Given the description of an element on the screen output the (x, y) to click on. 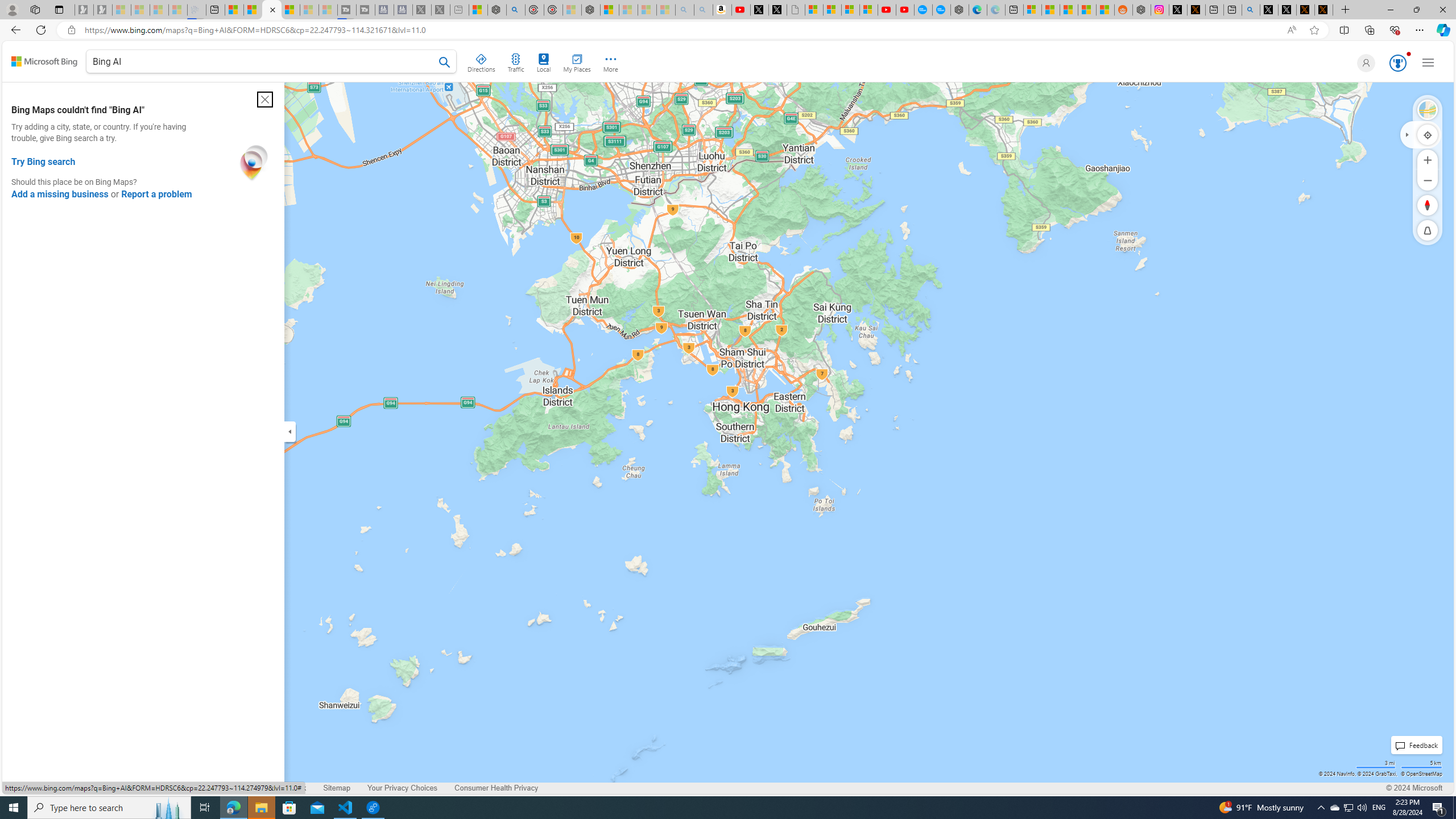
Class: sbElement (43, 60)
Streetside (1427, 109)
X Privacy Policy (1324, 9)
Report a problem (156, 194)
More (610, 60)
Help (249, 787)
Profile / X (1268, 9)
Eugene (1363, 62)
Help (248, 787)
